Given the description of an element on the screen output the (x, y) to click on. 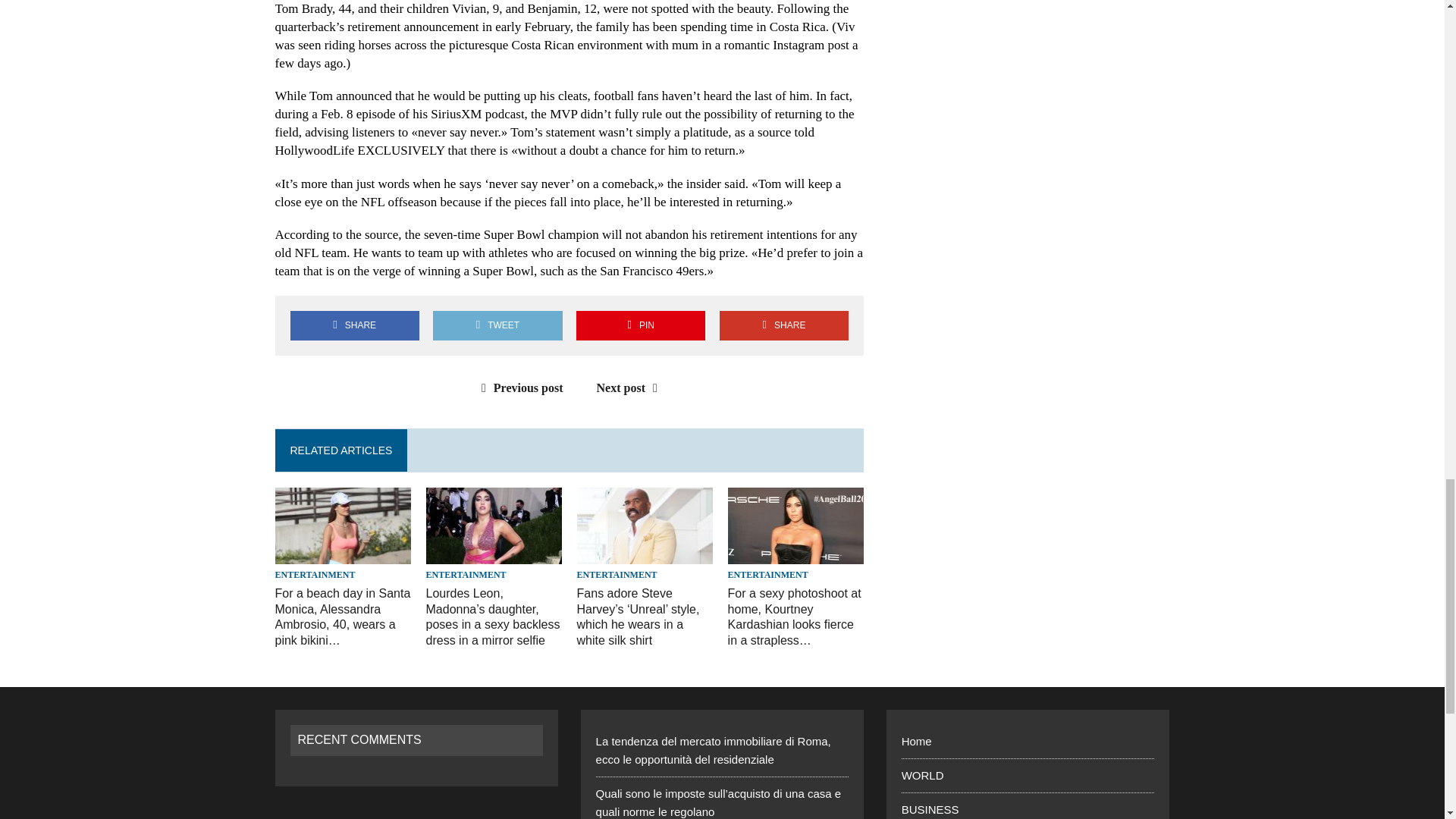
PIN (640, 325)
Share on Facebook (354, 325)
TWEET (497, 325)
SHARE (354, 325)
Next post (630, 387)
Pin This Post (640, 325)
SHARE (783, 325)
Previous post (518, 387)
Tweet This Post (497, 325)
